Given the description of an element on the screen output the (x, y) to click on. 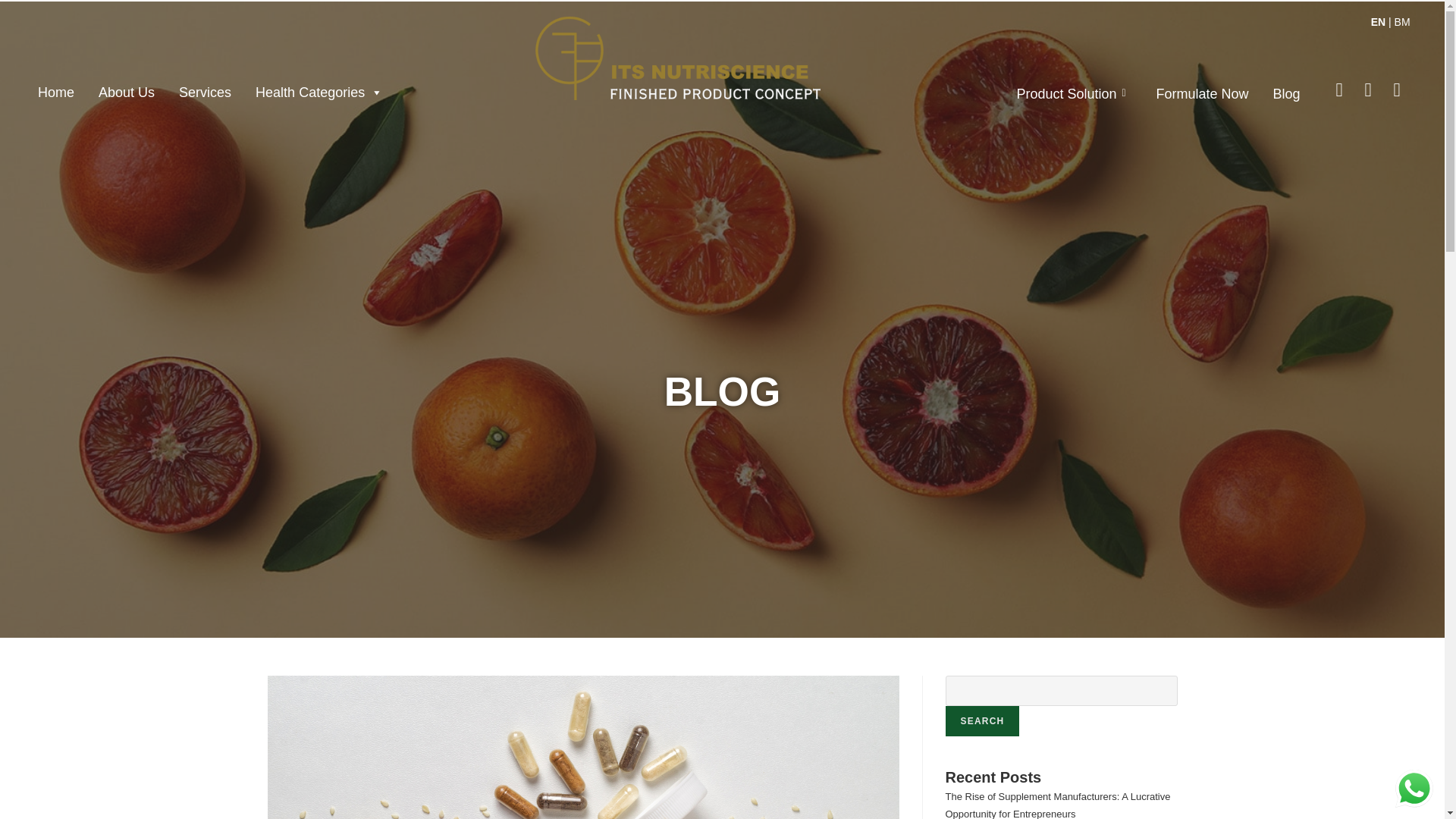
Services (205, 91)
Health Categories (318, 91)
About Us (125, 91)
Home (55, 91)
